Given the description of an element on the screen output the (x, y) to click on. 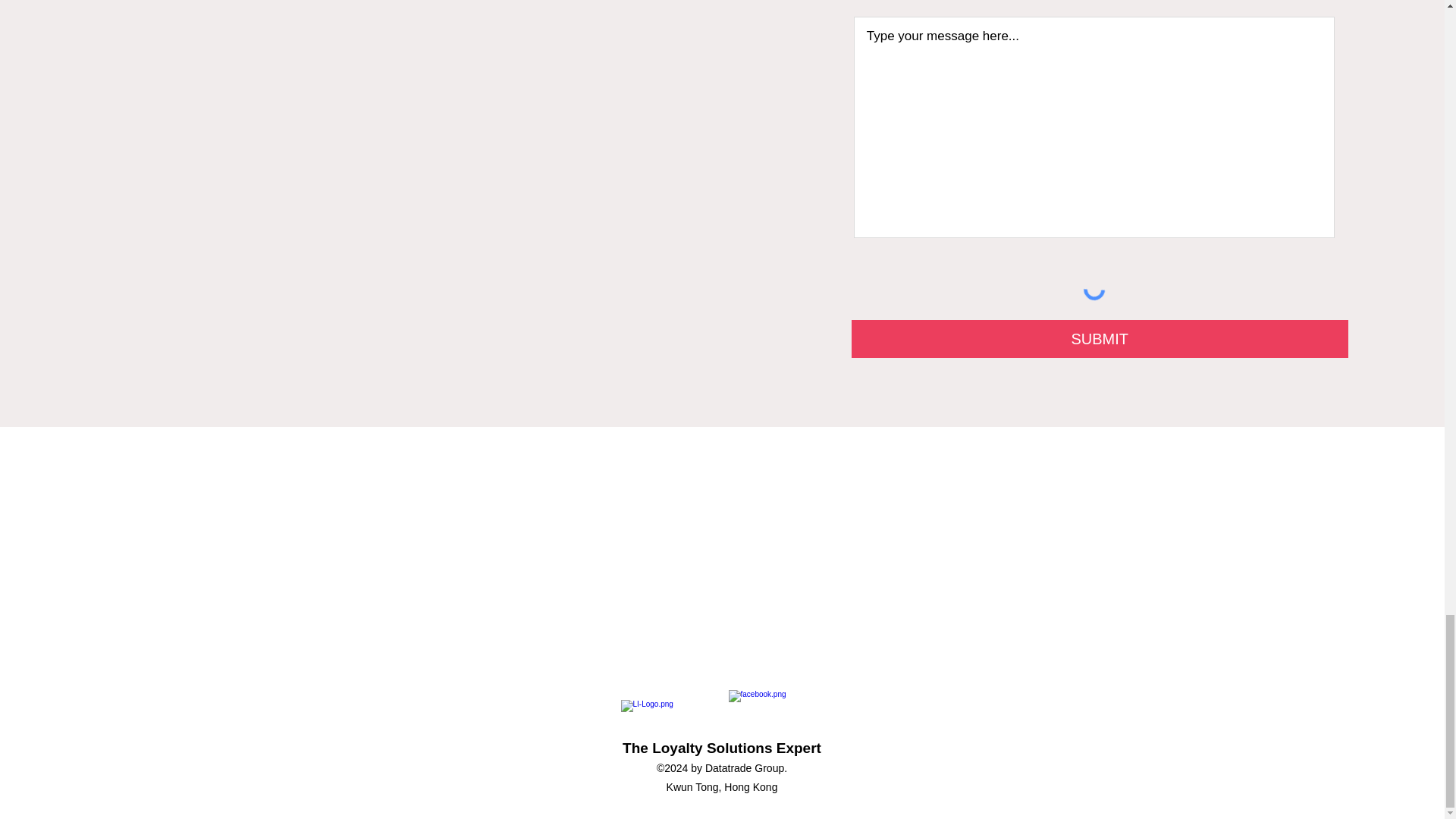
SUBMIT (1099, 338)
